Given the description of an element on the screen output the (x, y) to click on. 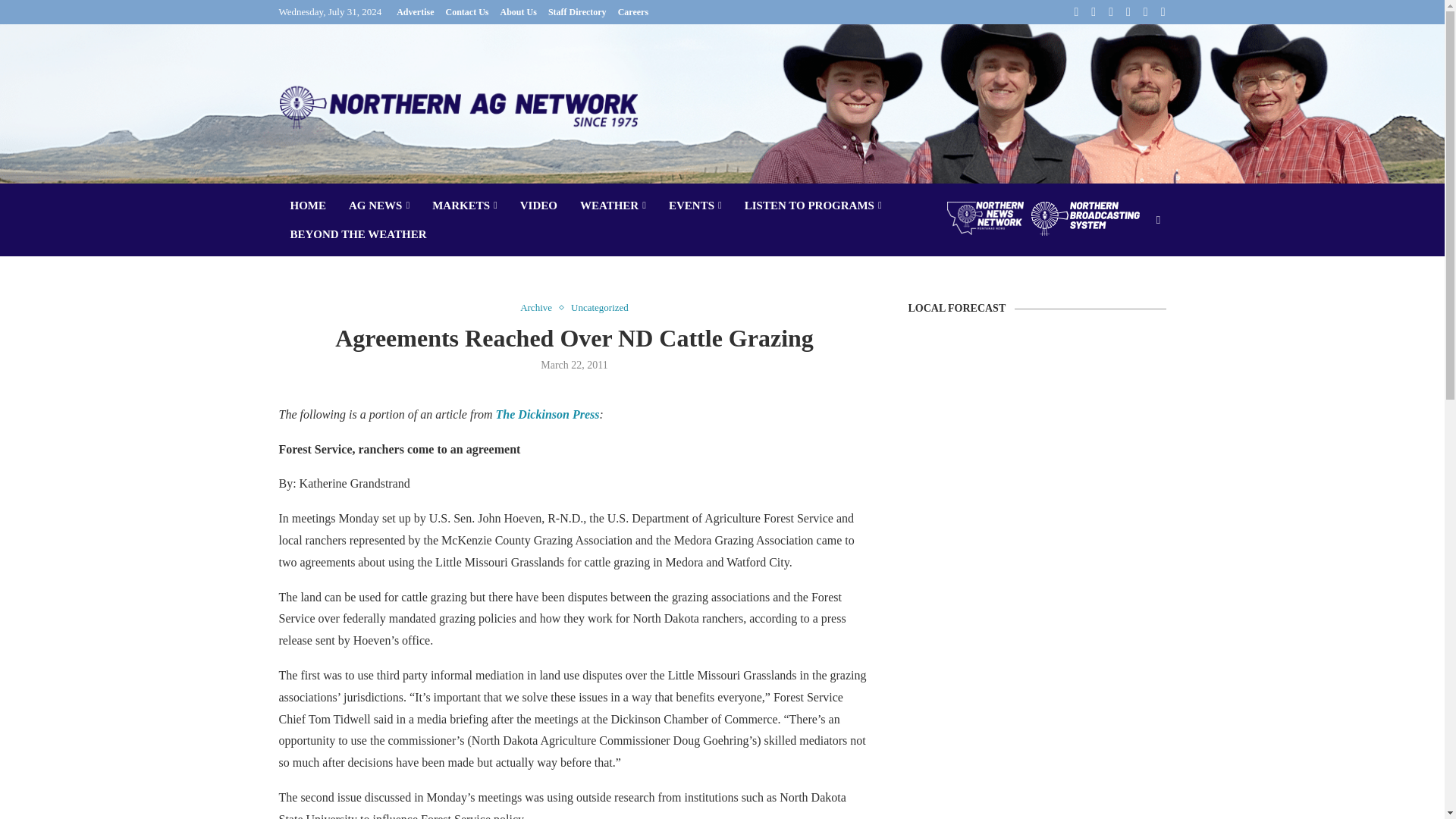
Contact Us (467, 12)
Advertise (414, 12)
Careers (632, 12)
Staff Directory (577, 12)
About Us (518, 12)
